Given the description of an element on the screen output the (x, y) to click on. 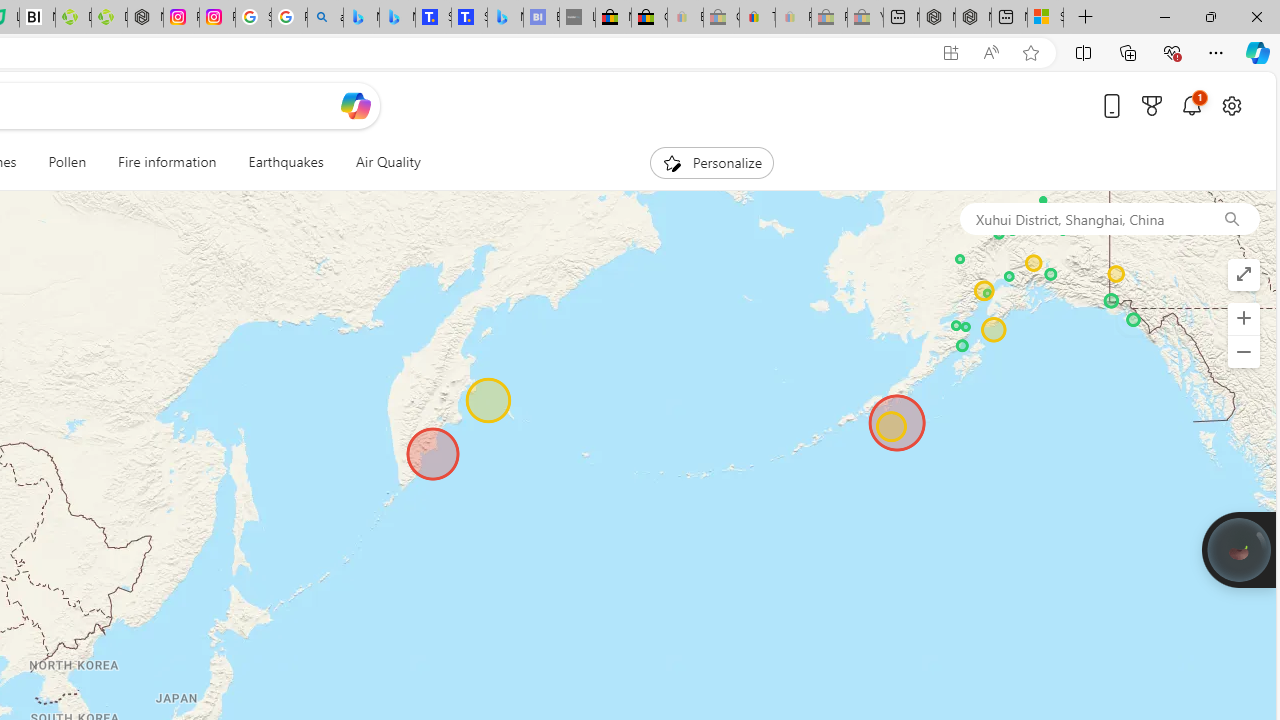
Nordace - Nordace Edin Collection (145, 17)
Zoom in (1243, 318)
Microsoft Bing Travel - Shangri-La Hotel Bangkok (505, 17)
alabama high school quarterback dies - Search (325, 17)
Air Quality (387, 162)
Fire information (167, 162)
Enter full screen mode (1243, 274)
Press Room - eBay Inc. - Sleeping (829, 17)
Xuhui District, Shanghai, China (1081, 218)
